Given the description of an element on the screen output the (x, y) to click on. 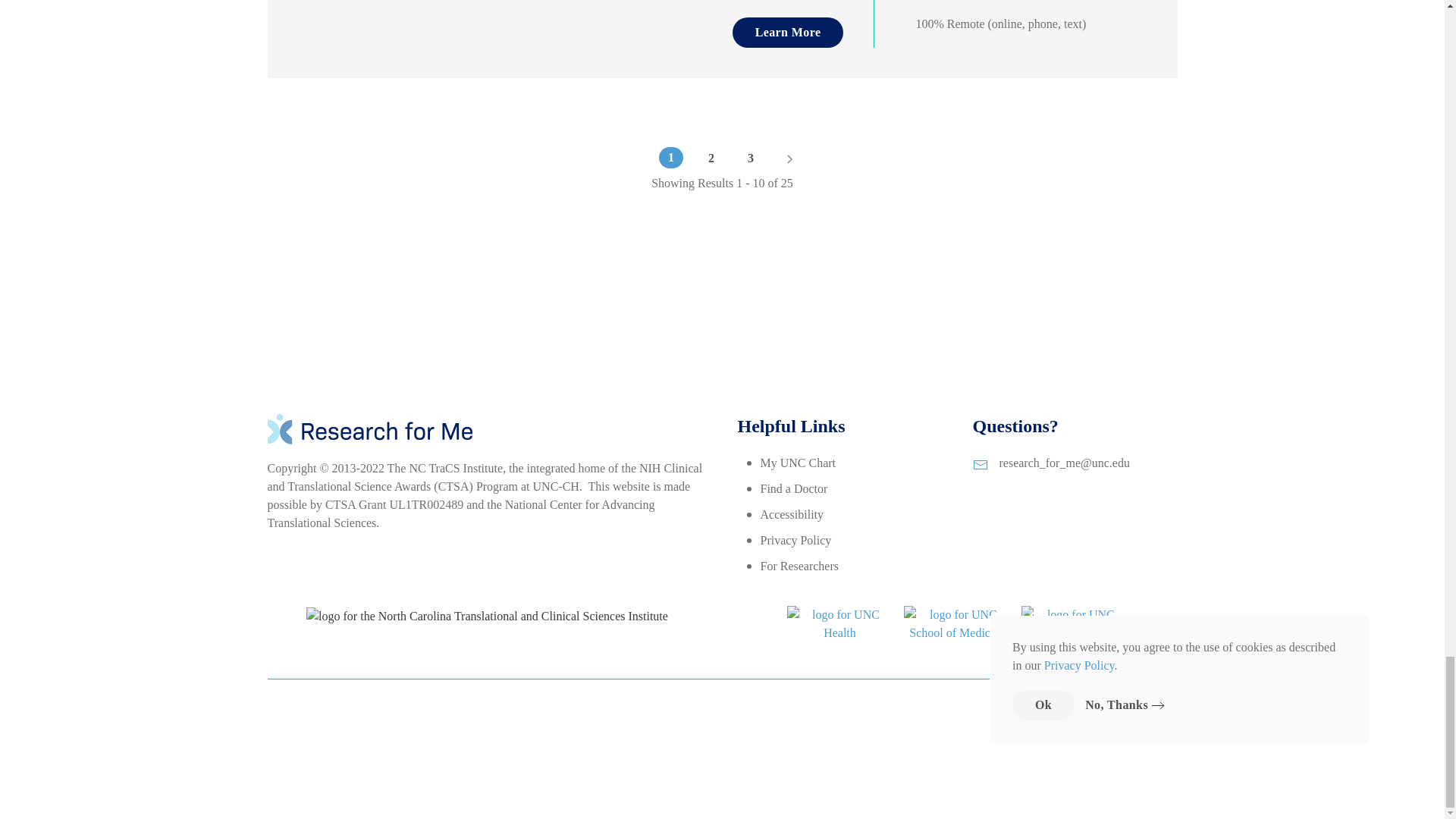
Back to Top (1166, 703)
Next (789, 158)
